Given the description of an element on the screen output the (x, y) to click on. 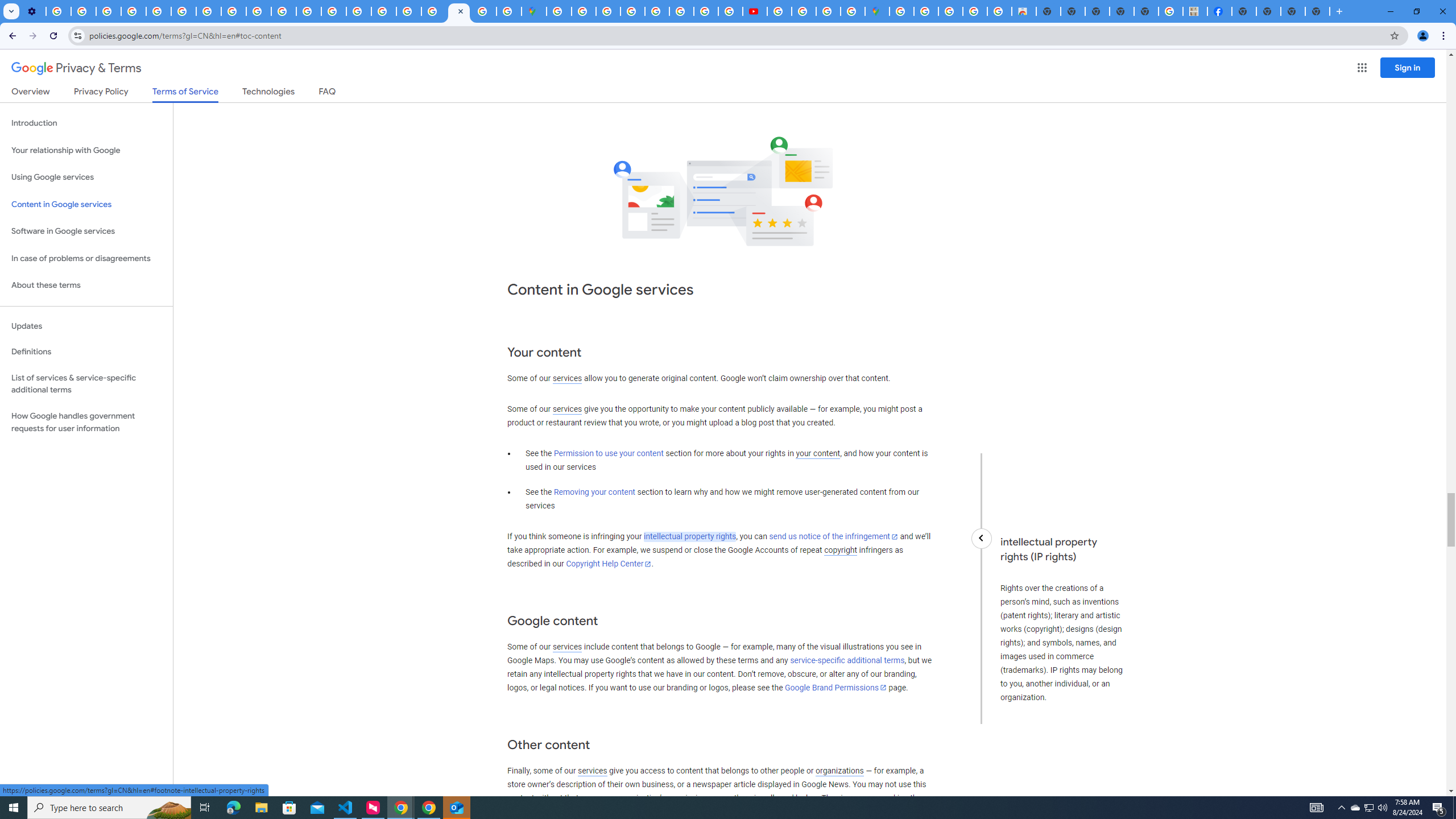
Removing your content (593, 492)
Terms and Conditions (656, 11)
How Google handles government requests for user information (86, 422)
Delete photos & videos - Computer - Google Photos Help (57, 11)
Chrome Web Store - Shopping (1023, 11)
Sign in - Google Accounts (900, 11)
In case of problems or disagreements (86, 258)
Introduction (86, 122)
Miley Cyrus | Facebook (1219, 11)
